Given the description of an element on the screen output the (x, y) to click on. 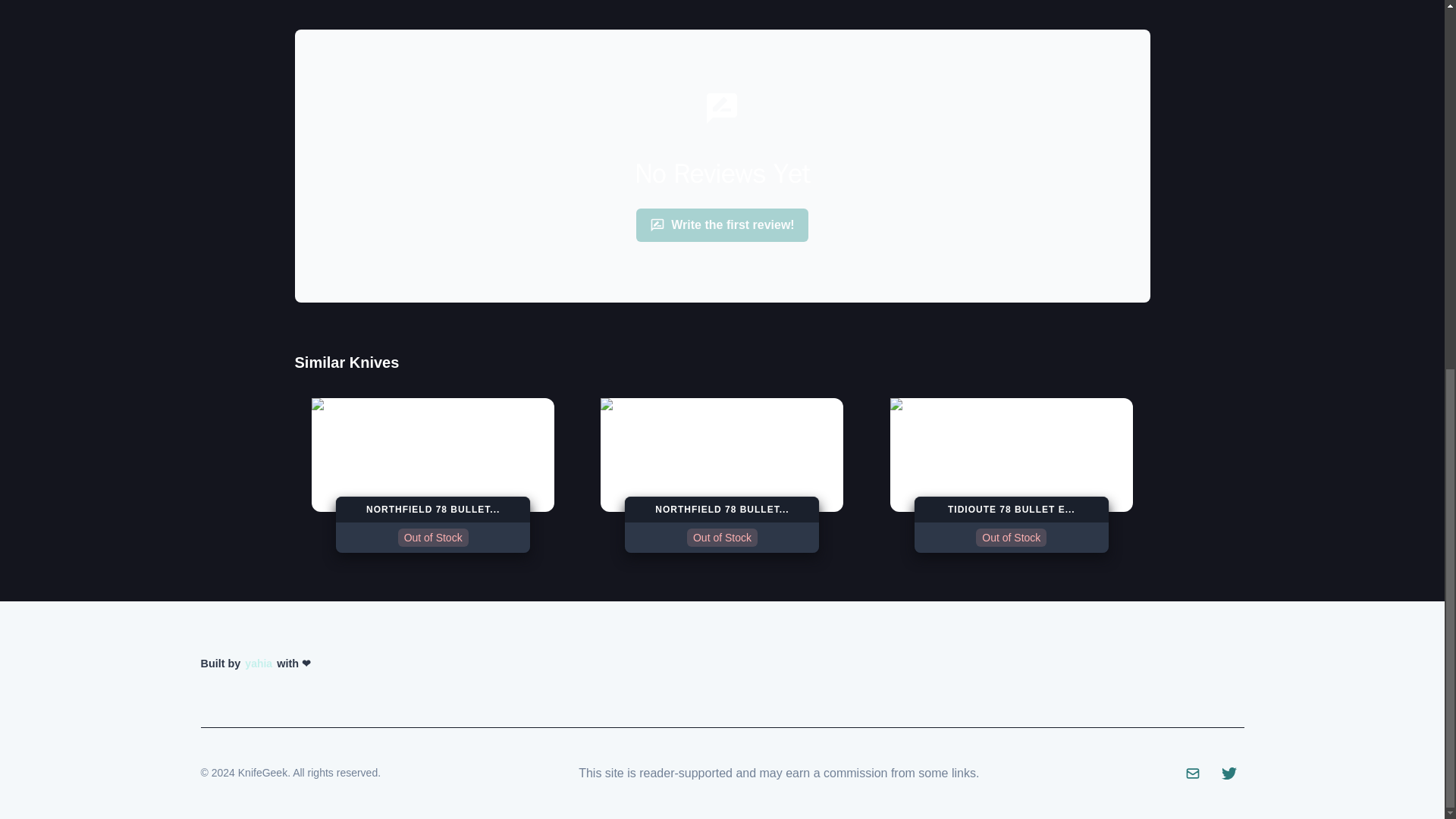
yahia (432, 475)
Write the first review! (258, 663)
